Given the description of an element on the screen output the (x, y) to click on. 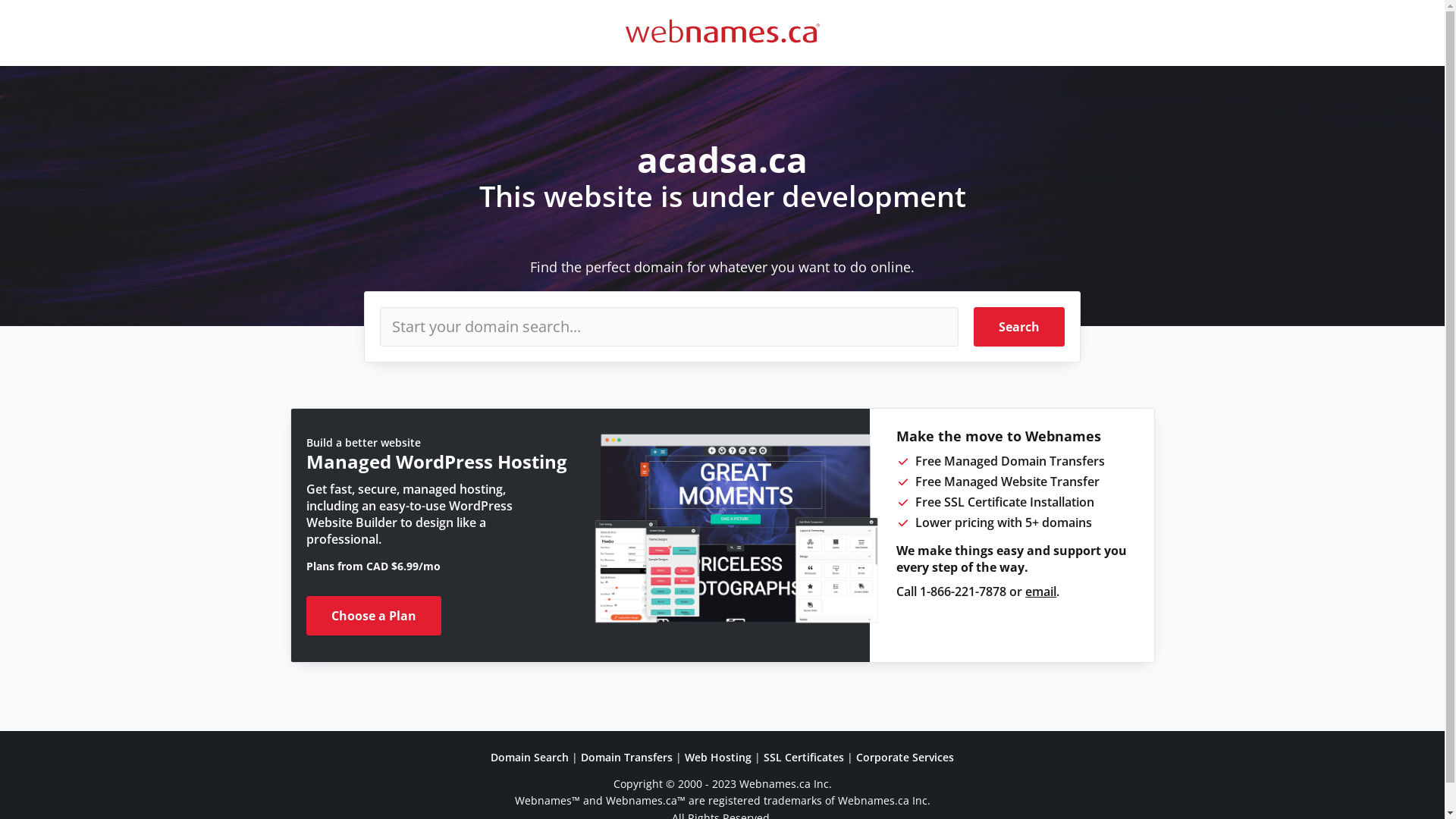
email Element type: text (1040, 591)
Web Hosting Element type: text (717, 756)
Corporate Services Element type: text (904, 756)
Domain Transfers Element type: text (626, 756)
Domain Search Element type: text (529, 756)
Search Element type: text (1018, 326)
1-866-221-7878 Element type: text (962, 591)
Choose a Plan Element type: text (373, 615)
SSL Certificates Element type: text (803, 756)
